Given the description of an element on the screen output the (x, y) to click on. 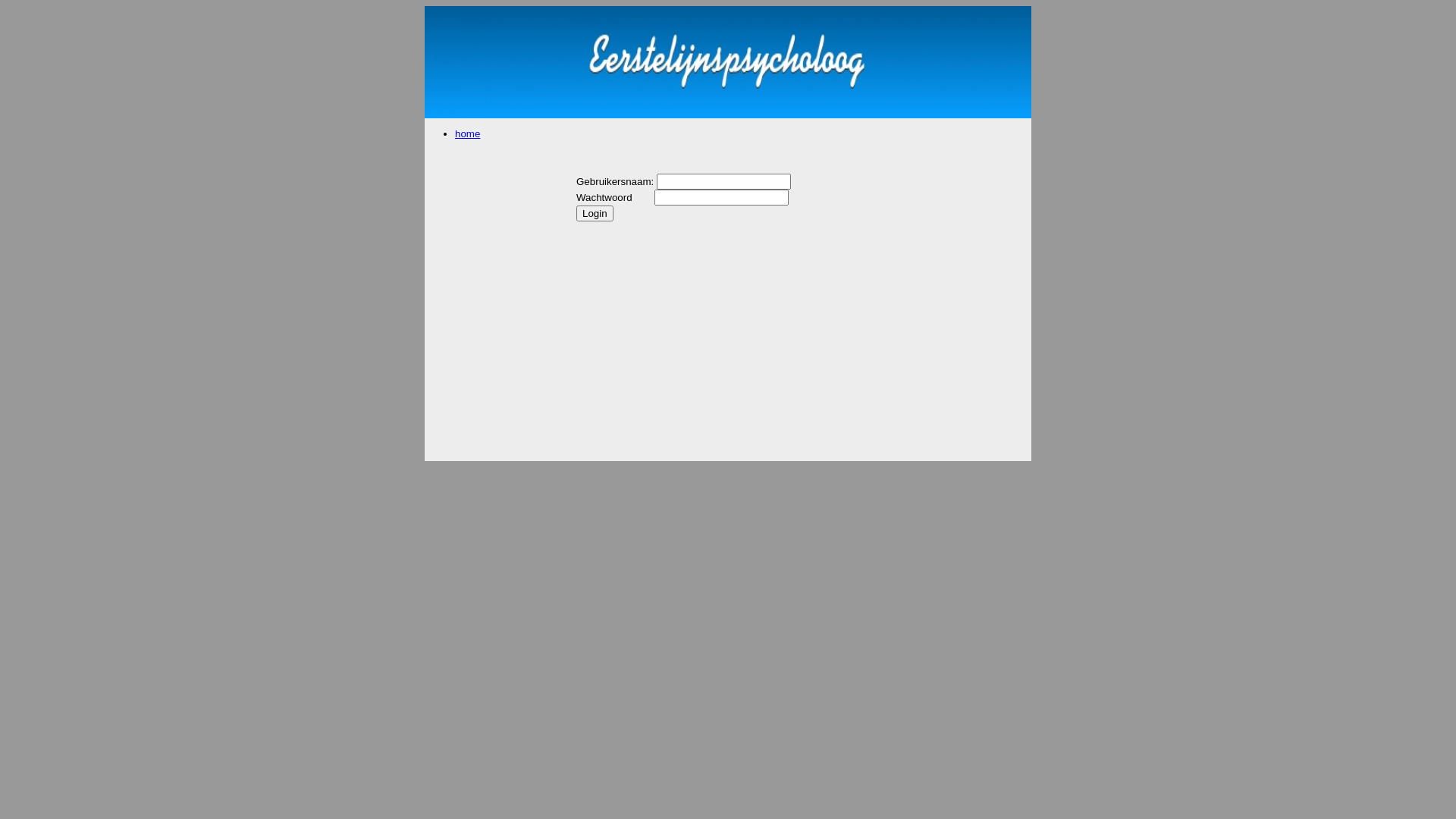
home Element type: text (467, 133)
Login Element type: text (594, 213)
